Given the description of an element on the screen output the (x, y) to click on. 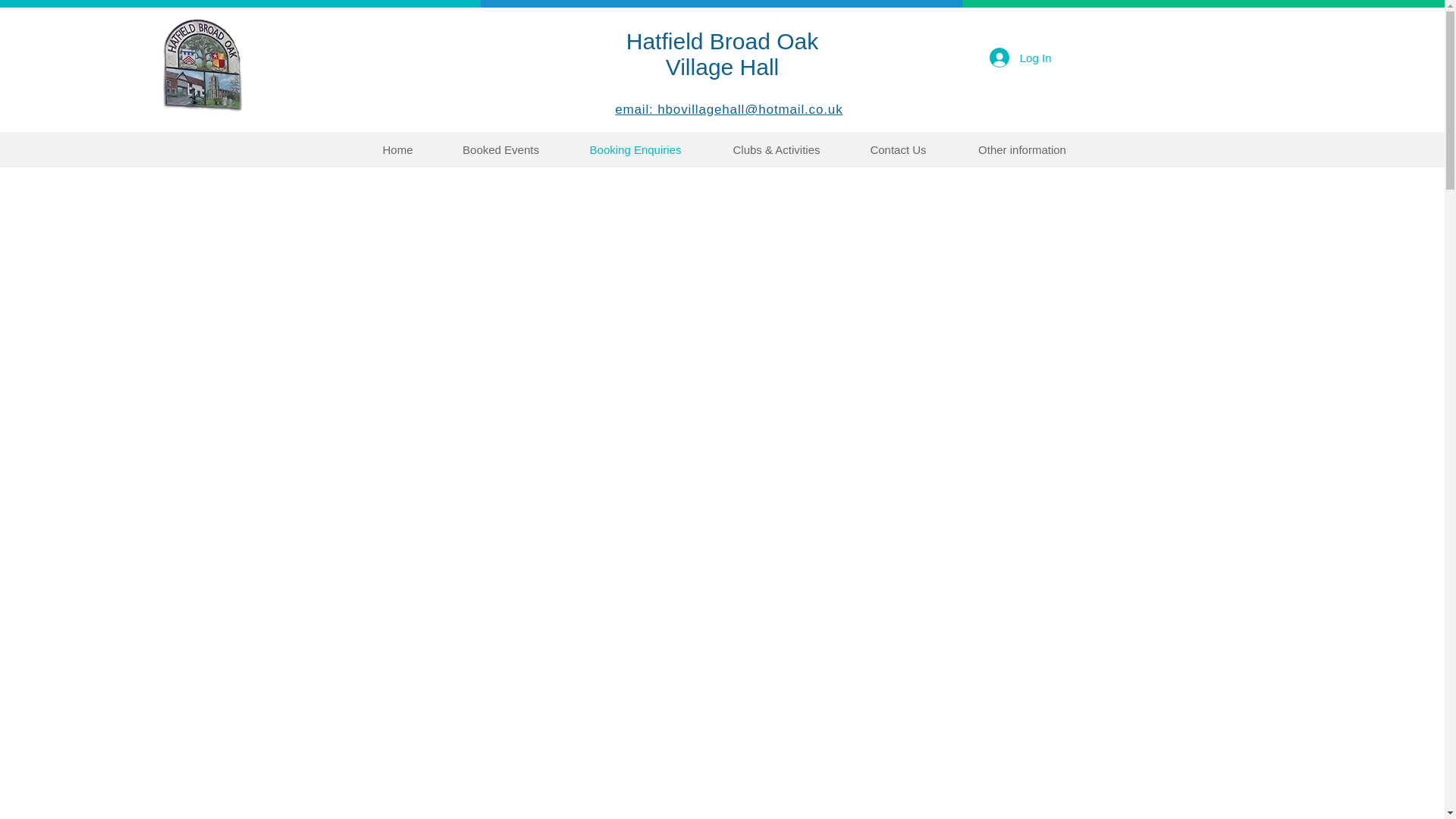
Other information (1022, 149)
Booked Events (722, 53)
Contact Us (501, 149)
Log In (897, 149)
Booking Enquiries (1020, 57)
Home (635, 149)
